Given the description of an element on the screen output the (x, y) to click on. 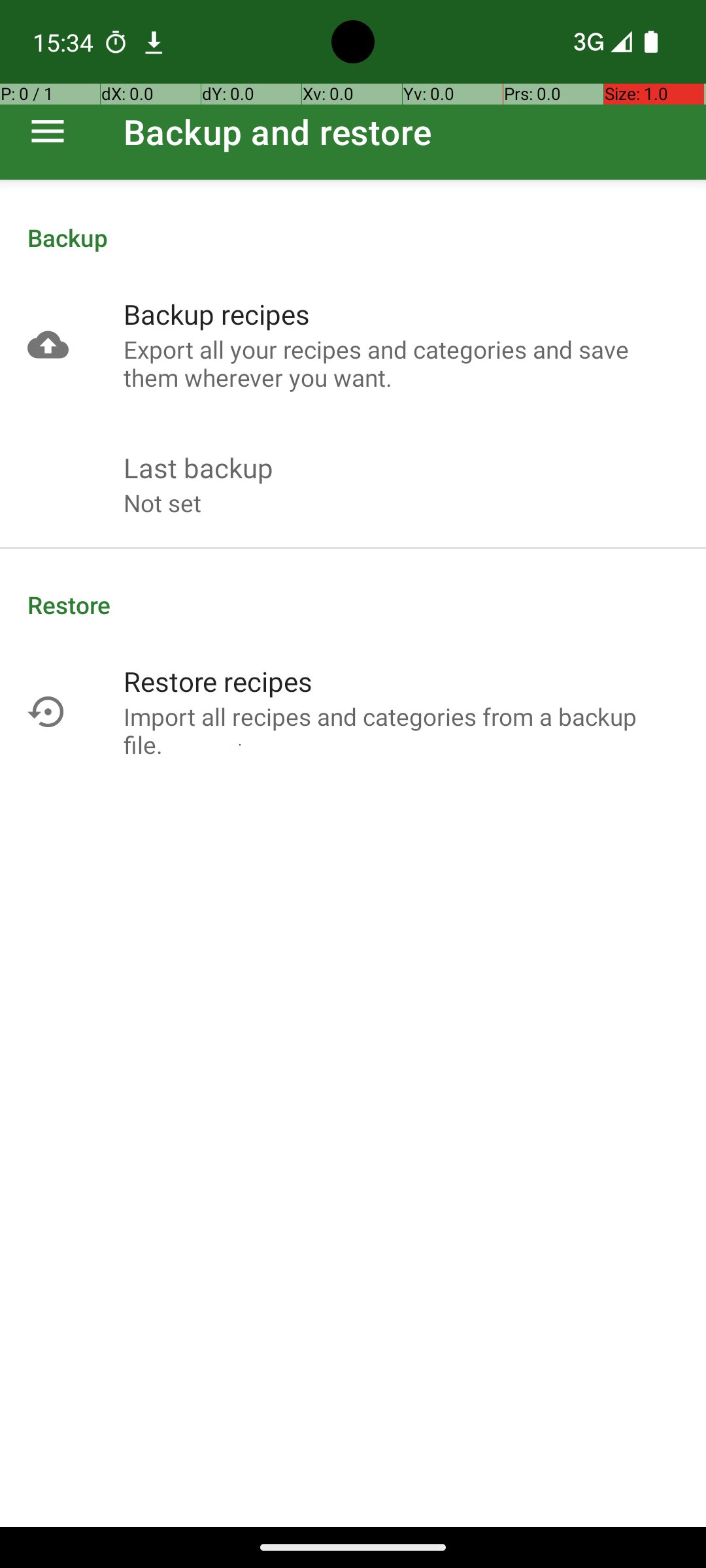
Backup recipes Element type: android.widget.TextView (216, 313)
Export all your recipes and categories and save them wherever you want. Element type: android.widget.TextView (400, 362)
Last backup Element type: android.widget.TextView (198, 467)
Not set Element type: android.widget.TextView (162, 502)
Restore Element type: android.widget.TextView (352, 604)
Restore recipes Element type: android.widget.TextView (217, 680)
Import all recipes and categories from a backup file. Element type: android.widget.TextView (400, 730)
